Given the description of an element on the screen output the (x, y) to click on. 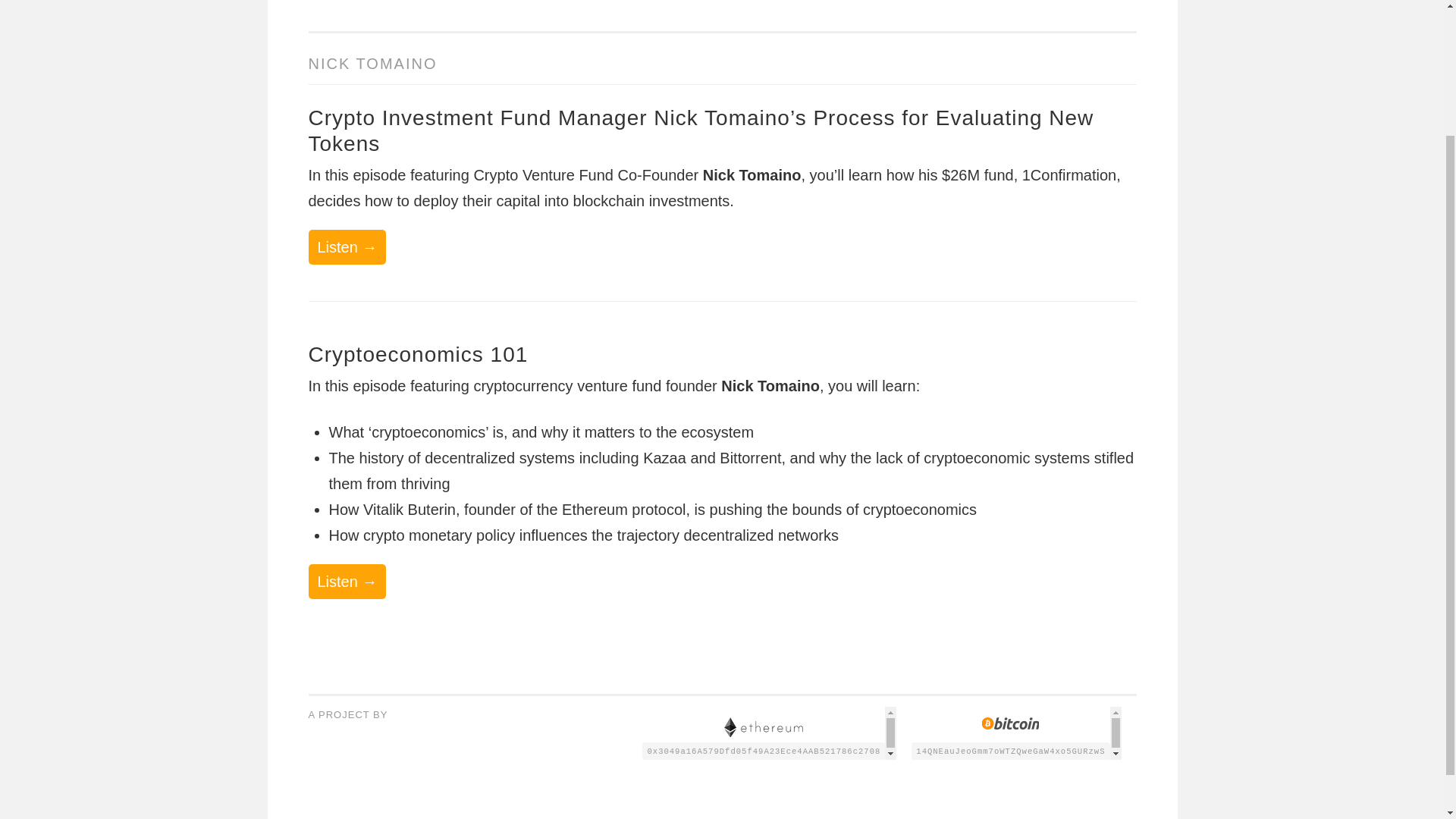
Twitter Follow Button (351, 730)
Cryptoeconomics 101 (417, 354)
